Given the description of an element on the screen output the (x, y) to click on. 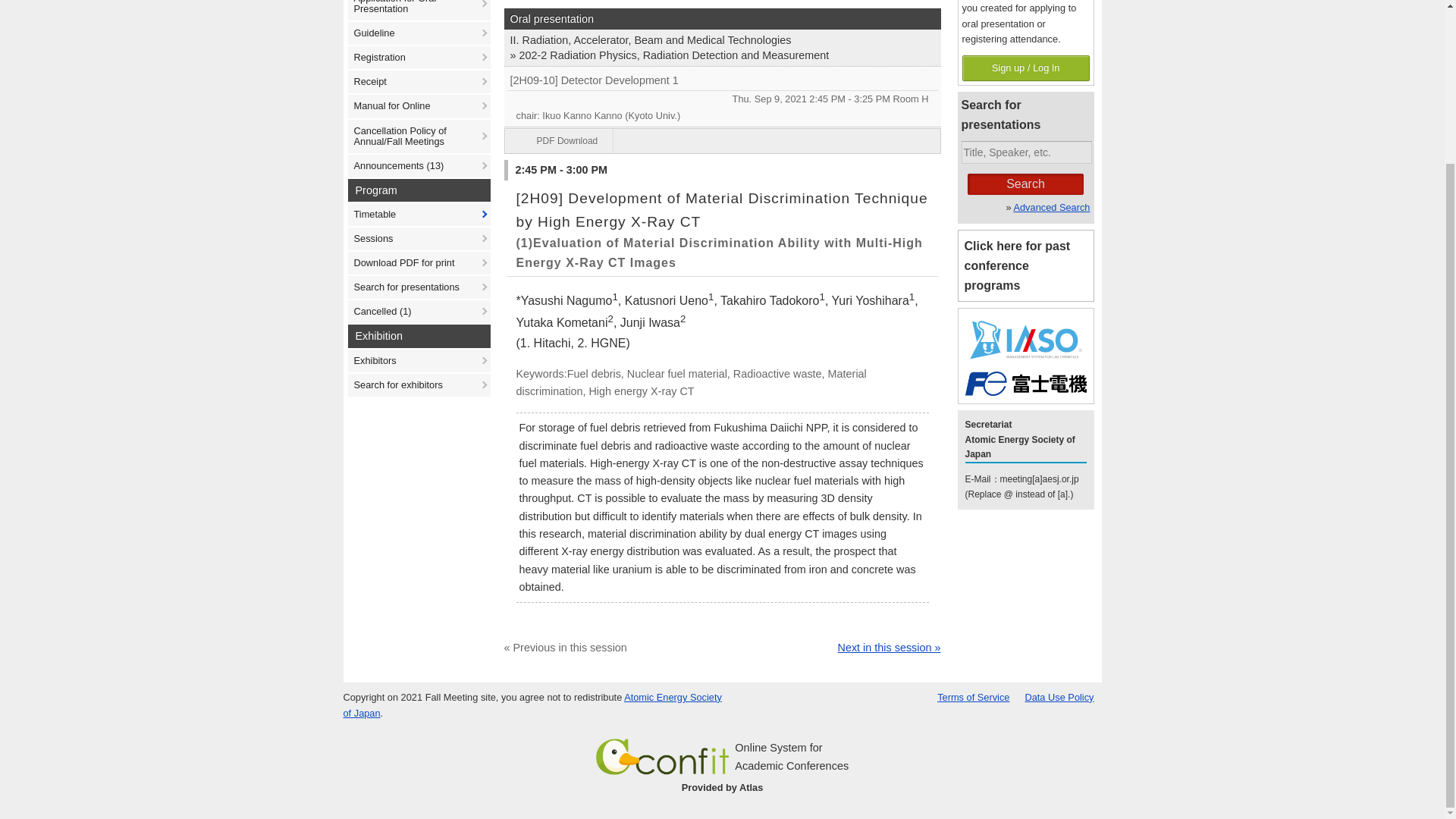
Receipt (418, 81)
Place (910, 99)
Schedule (810, 99)
Timetable (418, 214)
Data Use Policy (1059, 696)
Keywords (721, 383)
Program type (721, 18)
Registration (418, 56)
PDF Download (559, 140)
Manual for Online (418, 106)
Atomic Energy Society of Japan (531, 705)
Chairperson (721, 115)
Guideline (418, 33)
Click here for past conference programs (1024, 266)
Terms of Service (973, 696)
